Given the description of an element on the screen output the (x, y) to click on. 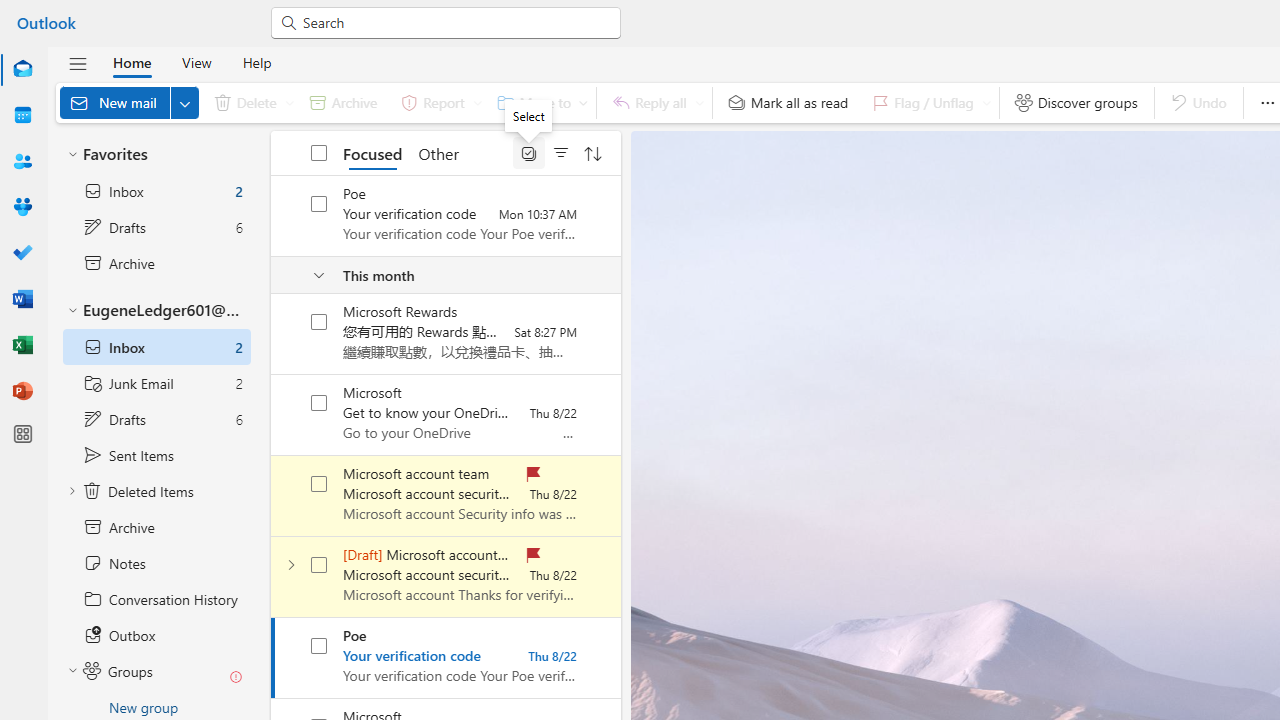
Move to (538, 102)
Undo (1198, 102)
